Given the description of an element on the screen output the (x, y) to click on. 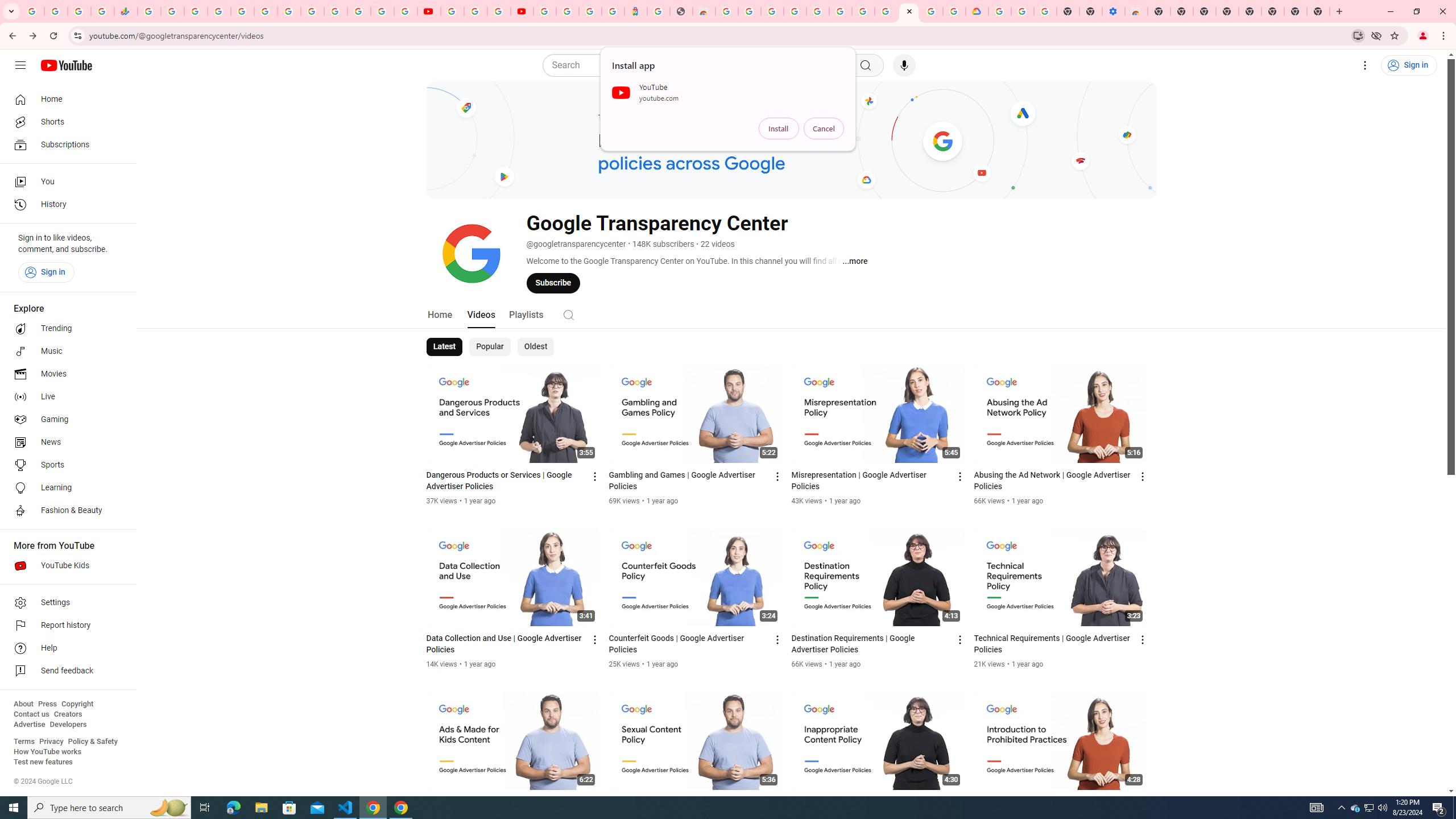
Subscriptions (64, 144)
Test new features (42, 761)
Developers (68, 724)
Sign in - Google Accounts (545, 11)
Latest (444, 346)
Policy & Safety (91, 741)
Send feedback (64, 671)
Android TV Policies and Guidelines - Transparency Center (288, 11)
Guide (20, 65)
